Given the description of an element on the screen output the (x, y) to click on. 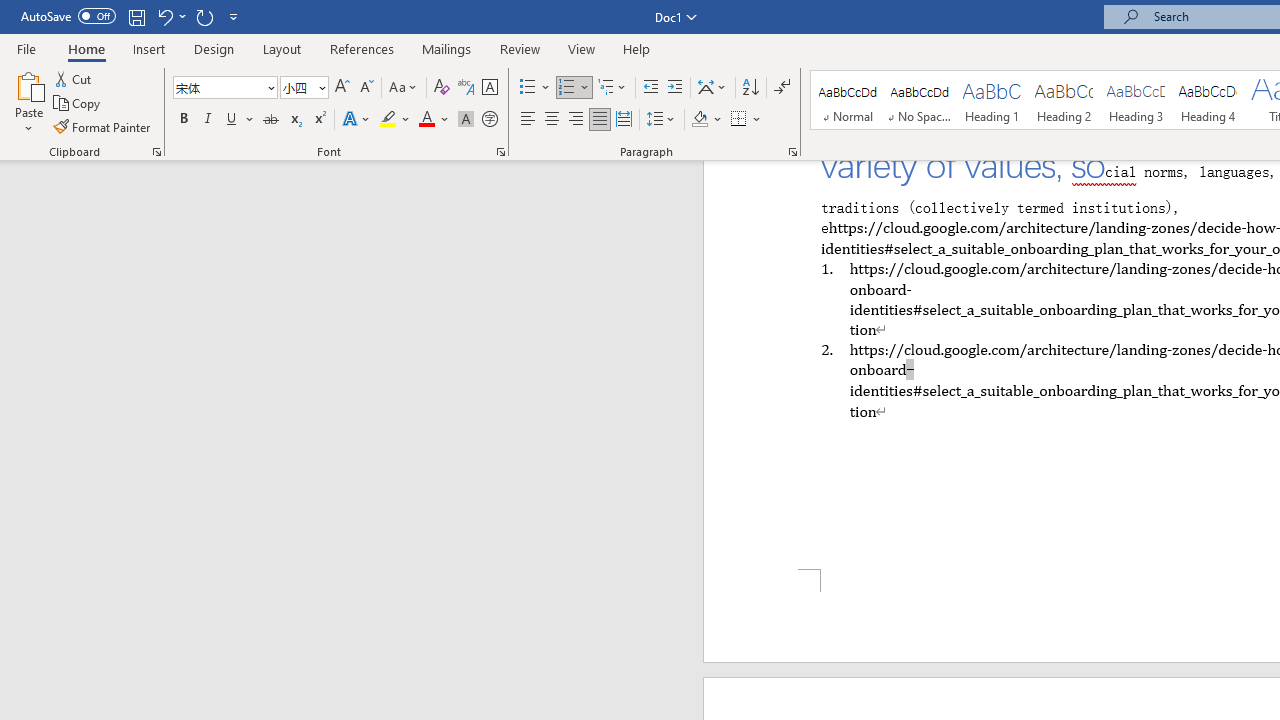
Cut (73, 78)
Font (218, 87)
Paste (28, 84)
Borders (746, 119)
Phonetic Guide... (465, 87)
Undo Apply Quick Style (170, 15)
Align Right (575, 119)
Sort... (750, 87)
Font Size (297, 87)
Decrease Indent (650, 87)
Home (86, 48)
Insert (149, 48)
Line and Paragraph Spacing (661, 119)
Customize Quick Access Toolbar (234, 15)
References (362, 48)
